Given the description of an element on the screen output the (x, y) to click on. 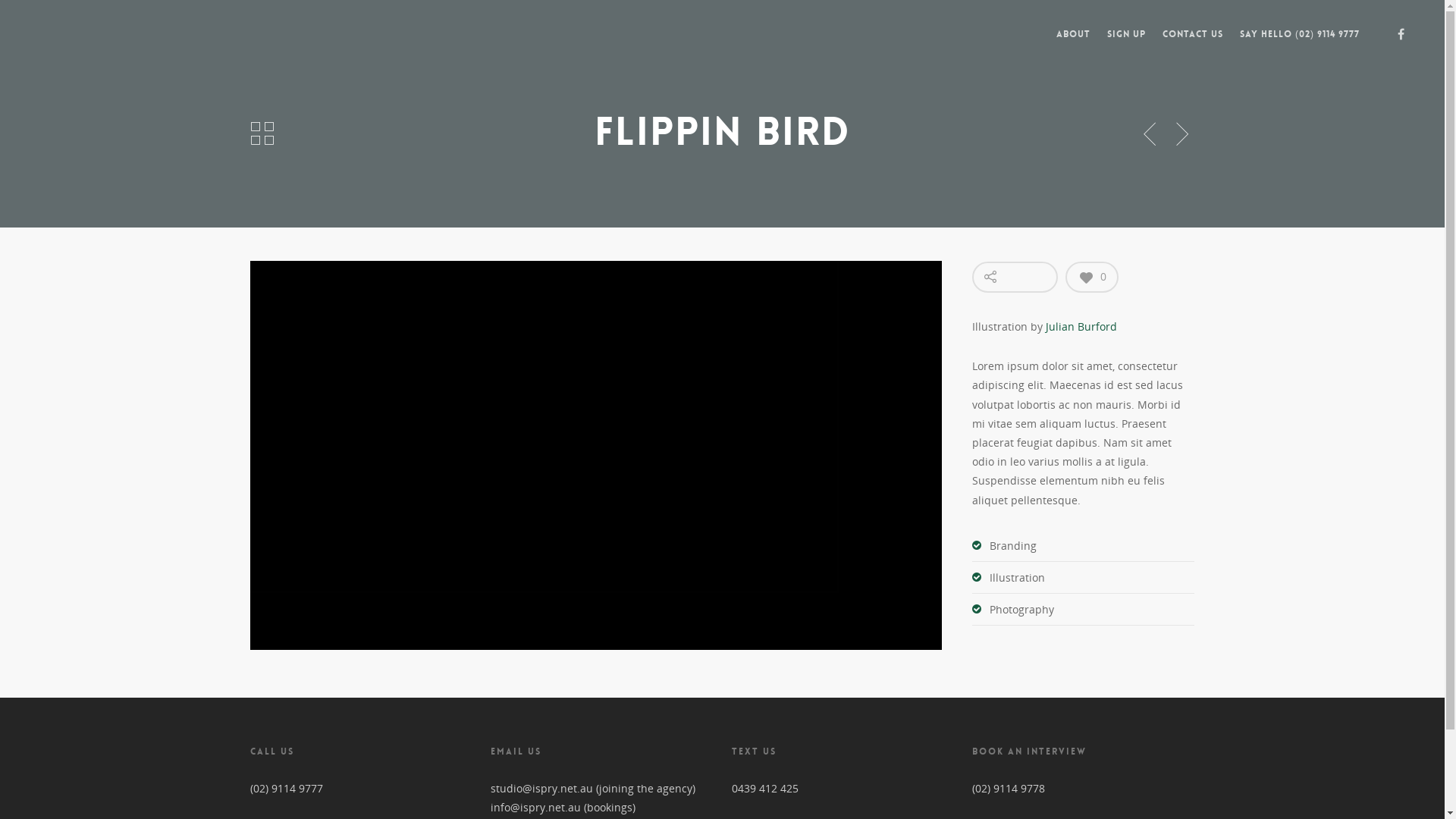
Say Hello (02) 9114 9777 Element type: text (1299, 45)
Back to all projects Element type: hover (262, 134)
Sign Up Element type: text (1126, 45)
Julian Burford Element type: text (1081, 326)
0 Element type: text (1091, 276)
Contact Us Element type: text (1192, 45)
About Element type: text (1073, 45)
